Given the description of an element on the screen output the (x, y) to click on. 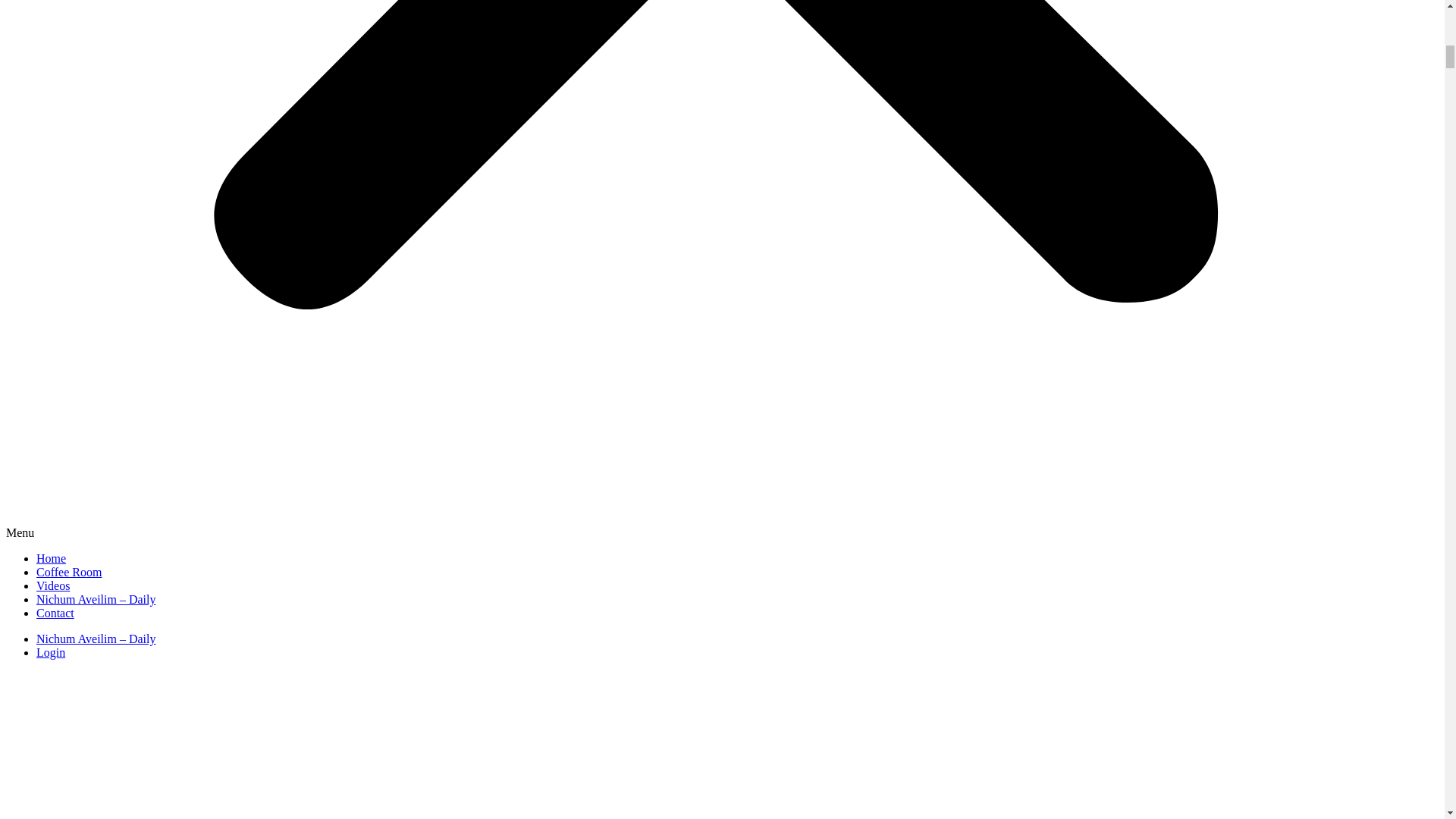
Coffee Room (68, 571)
Login (50, 652)
Contact (55, 612)
Home (50, 558)
Videos (52, 585)
